Given the description of an element on the screen output the (x, y) to click on. 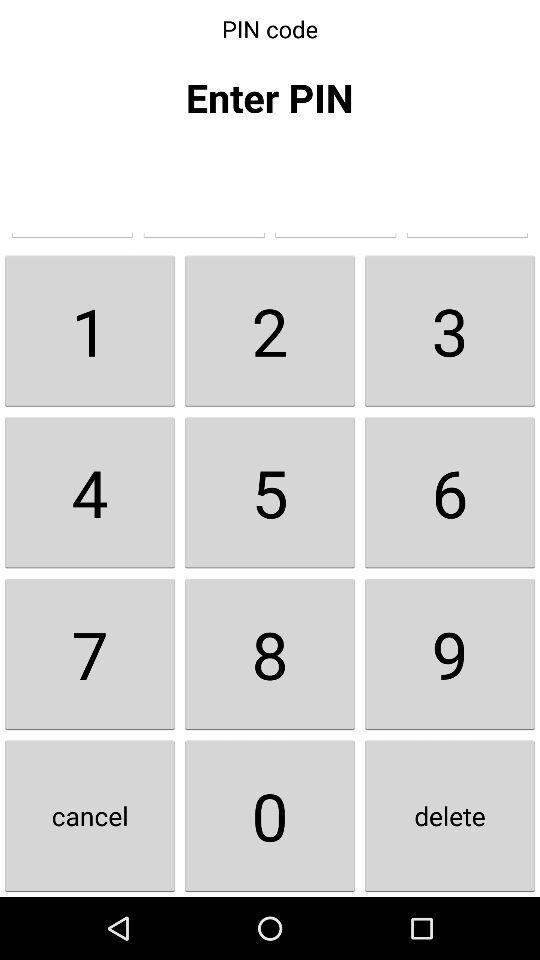
launch the button next to the 2 item (90, 330)
